Given the description of an element on the screen output the (x, y) to click on. 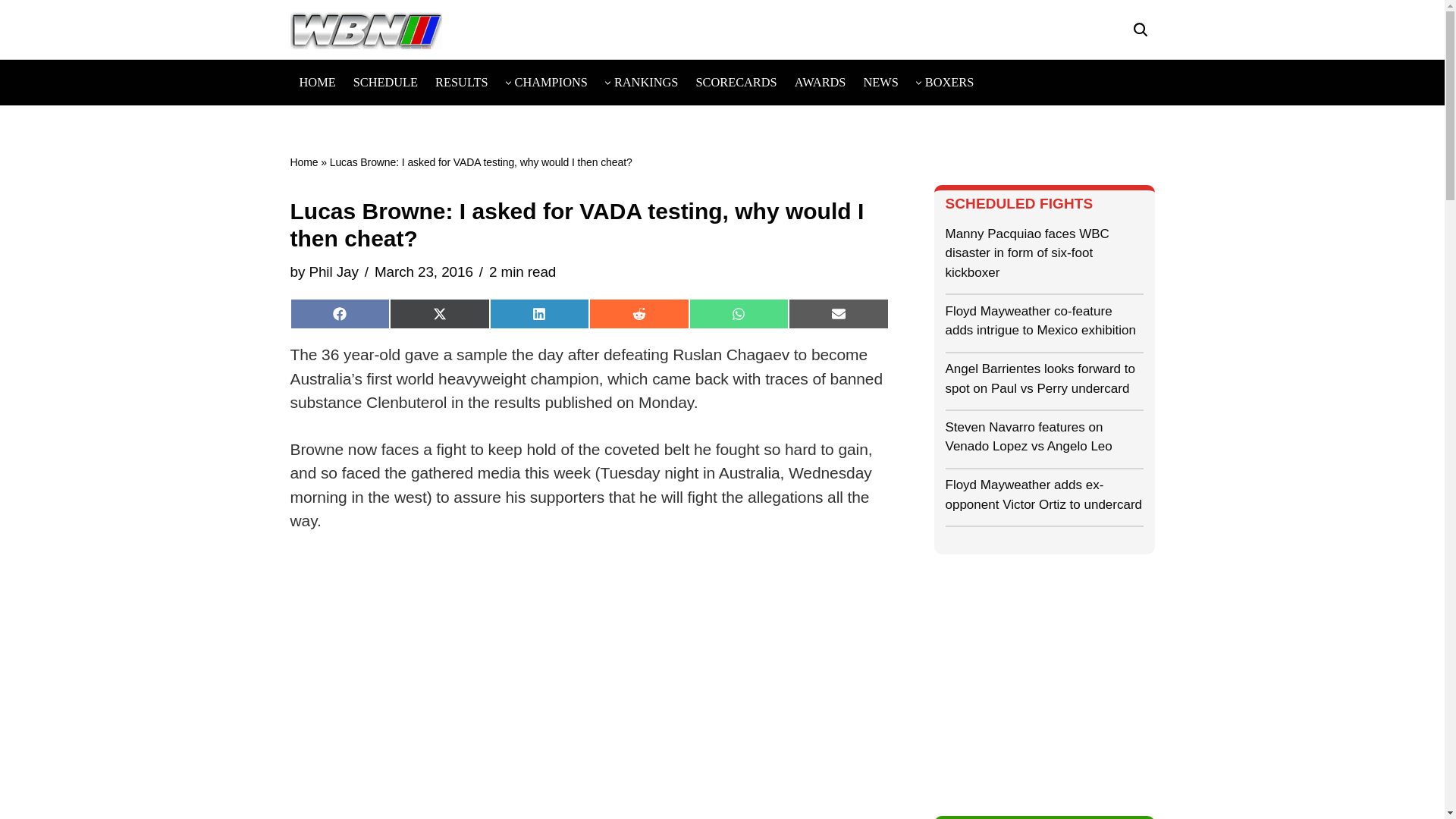
RANKINGS (646, 81)
Posts by Phil Jay (333, 271)
SCHEDULE (385, 81)
Skip to content (11, 31)
AWARDS (819, 81)
NEWS (880, 81)
CHAMPIONS (551, 81)
RESULTS (461, 81)
HOME (316, 81)
SCORECARDS (735, 81)
BOXERS (949, 81)
